Given the description of an element on the screen output the (x, y) to click on. 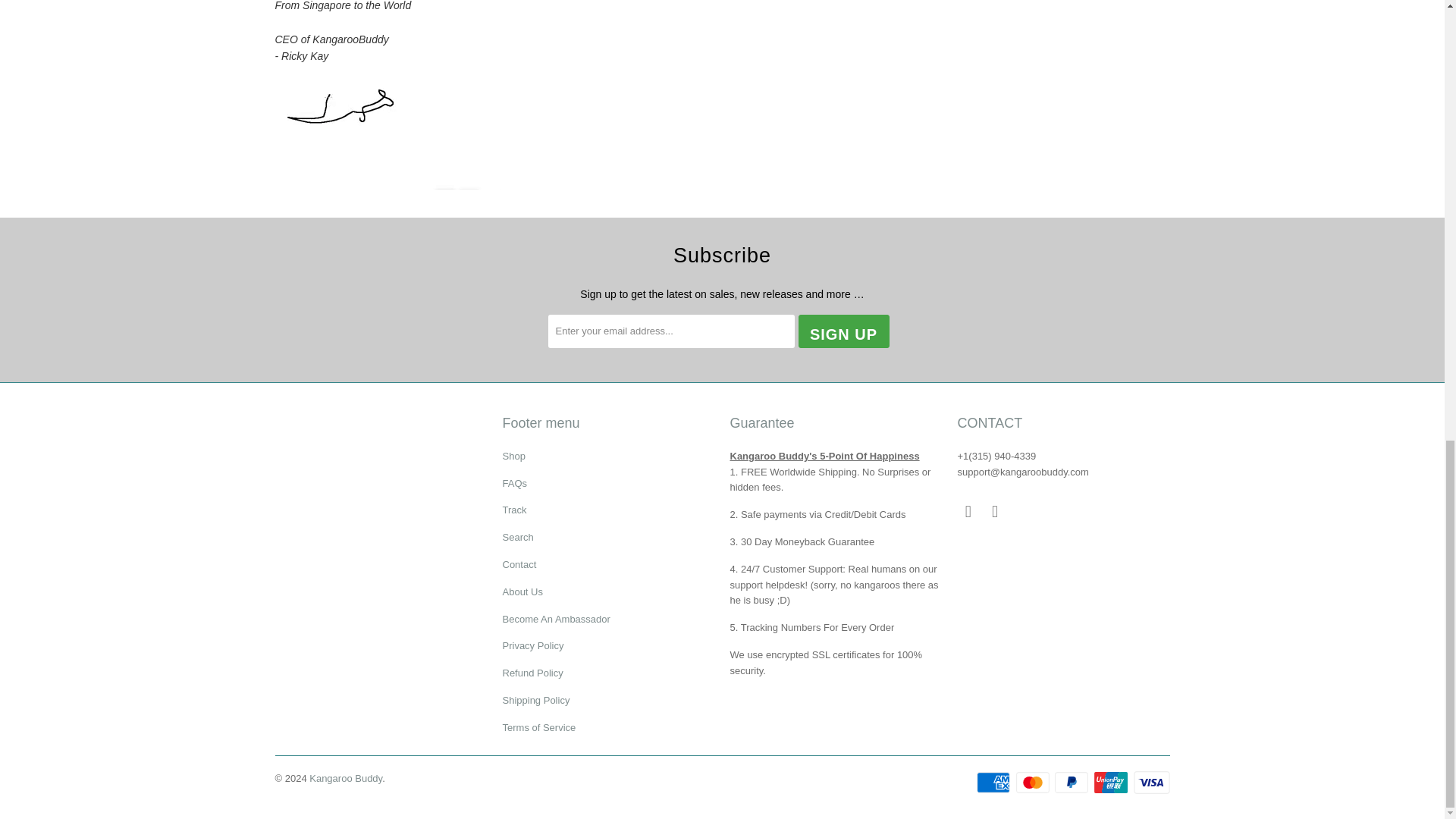
FAQs (514, 482)
Sign Up (842, 331)
Sign Up (842, 331)
American Express (994, 782)
Kangaroo Buddy on Facebook (967, 511)
Visa (1150, 782)
Contact (518, 564)
Search (517, 536)
Mastercard (1034, 782)
Track (513, 509)
Union Pay (1112, 782)
Kangaroo Buddy on Instagram (995, 511)
Shop (513, 455)
PayPal (1072, 782)
